Given the description of an element on the screen output the (x, y) to click on. 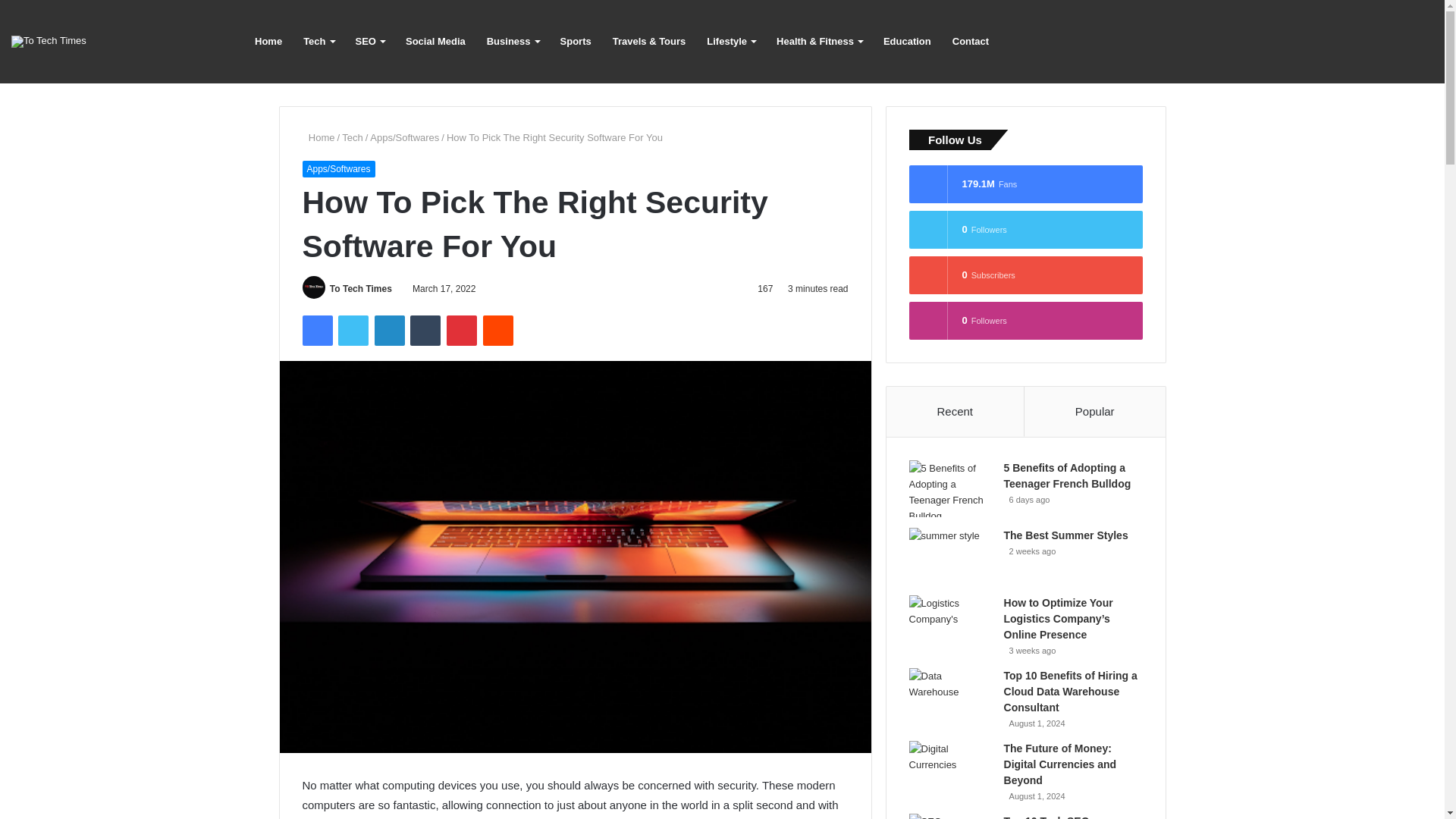
Tumblr (425, 330)
Tech (352, 137)
Twitter (352, 330)
Reddit (498, 330)
Social Media (435, 41)
To Tech Times (48, 41)
Facebook (316, 330)
LinkedIn (389, 330)
Twitter (352, 330)
